Given the description of an element on the screen output the (x, y) to click on. 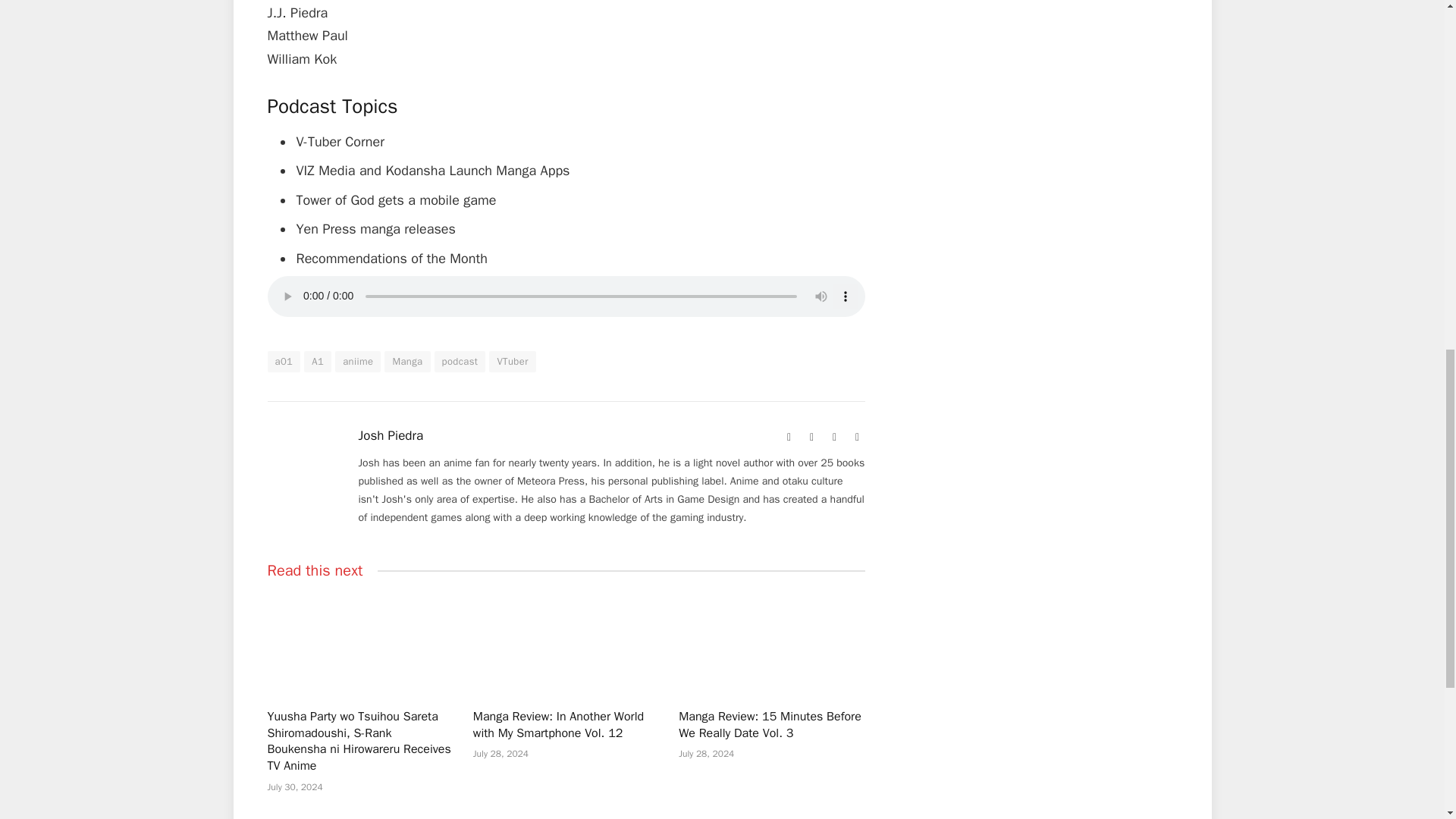
Manga Review: 15 Minutes Before We Really Date Vol. 3 (771, 644)
Instagram (856, 437)
Posts by Josh Piedra (390, 435)
Website (788, 437)
Facebook (810, 437)
Manga Review: In Another World with My Smartphone Vol. 12 (566, 644)
